Given the description of an element on the screen output the (x, y) to click on. 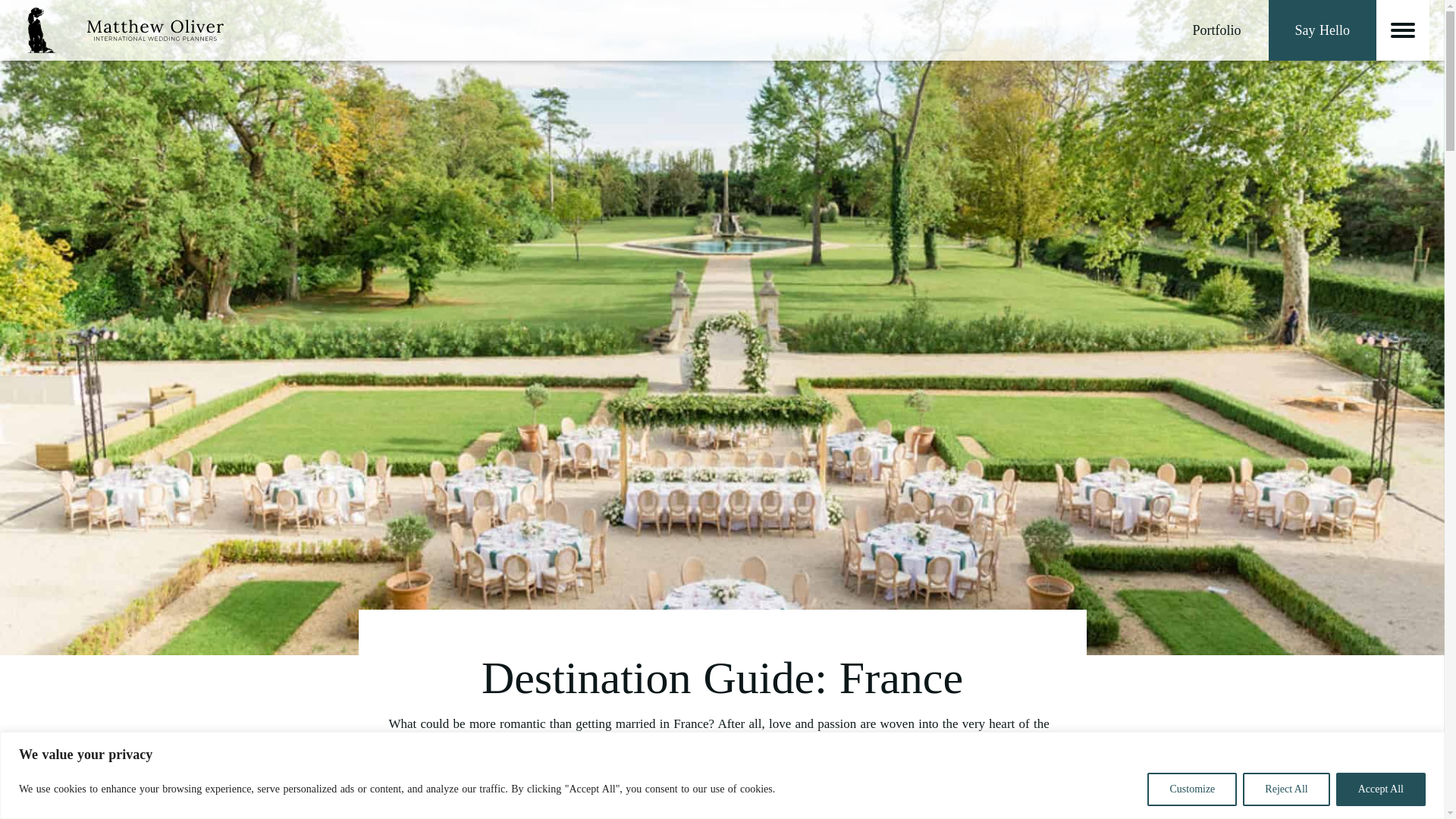
Customize (1191, 788)
Say Hello (1321, 30)
Accept All (1380, 788)
Reject All (1286, 788)
Portfolio (1216, 30)
